Given the description of an element on the screen output the (x, y) to click on. 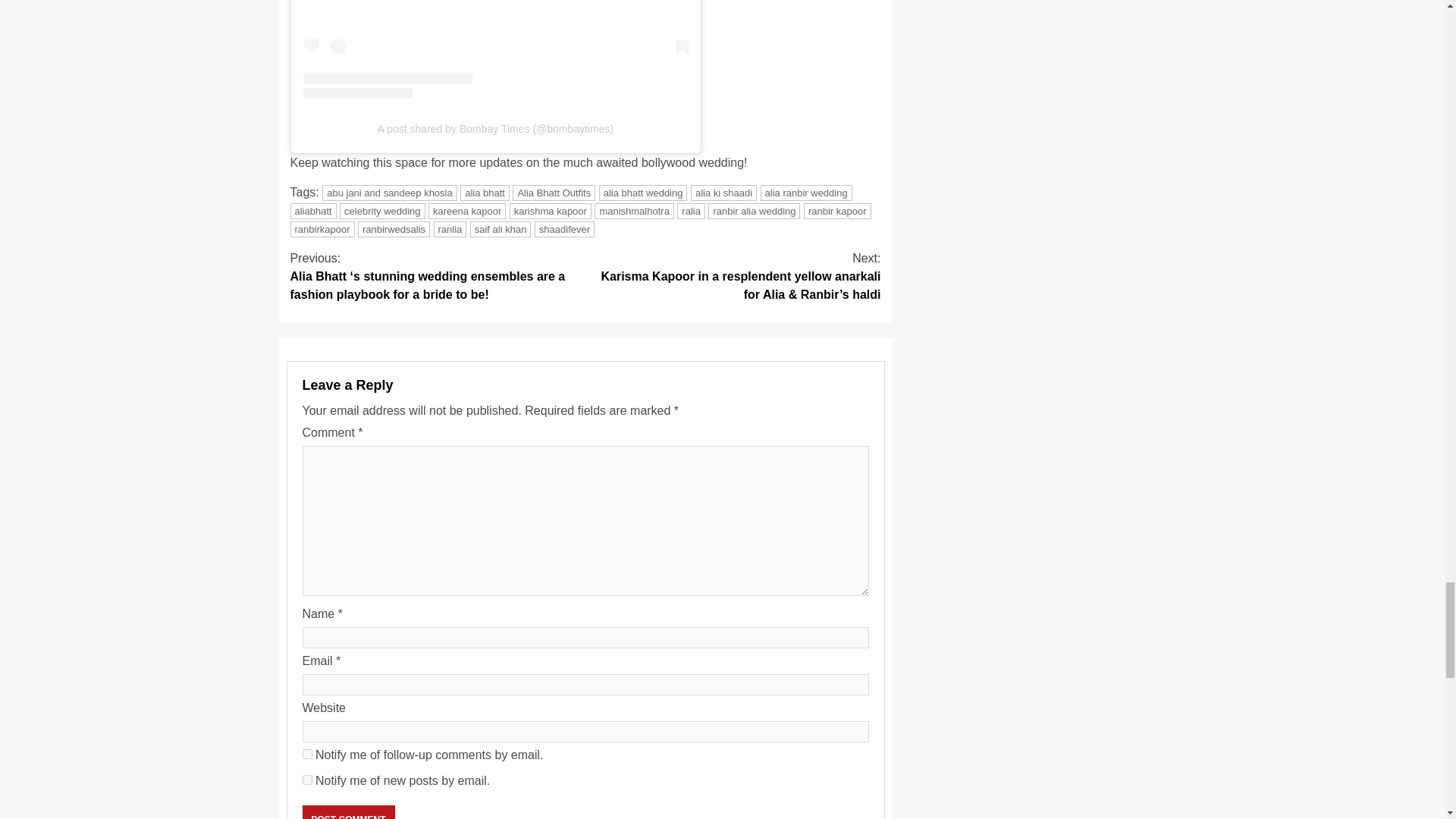
subscribe (306, 779)
Post Comment (347, 812)
subscribe (306, 754)
